Given the description of an element on the screen output the (x, y) to click on. 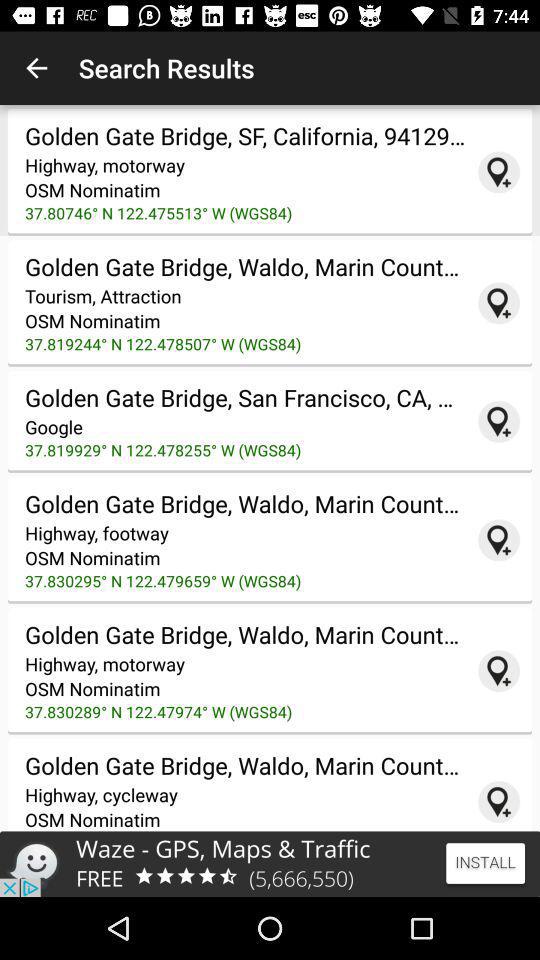
show on map (499, 172)
